Given the description of an element on the screen output the (x, y) to click on. 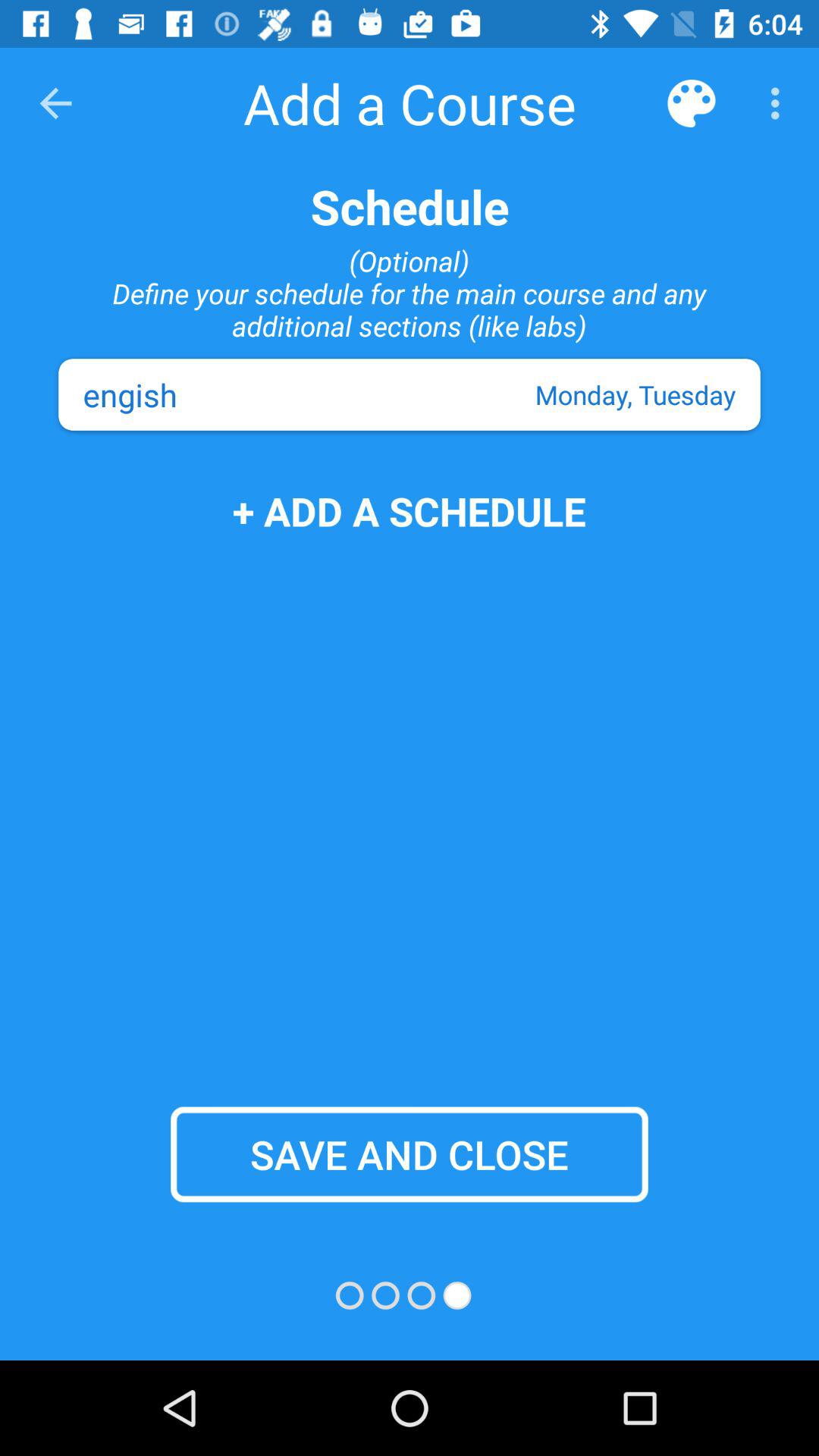
tap icon above schedule (55, 103)
